Given the description of an element on the screen output the (x, y) to click on. 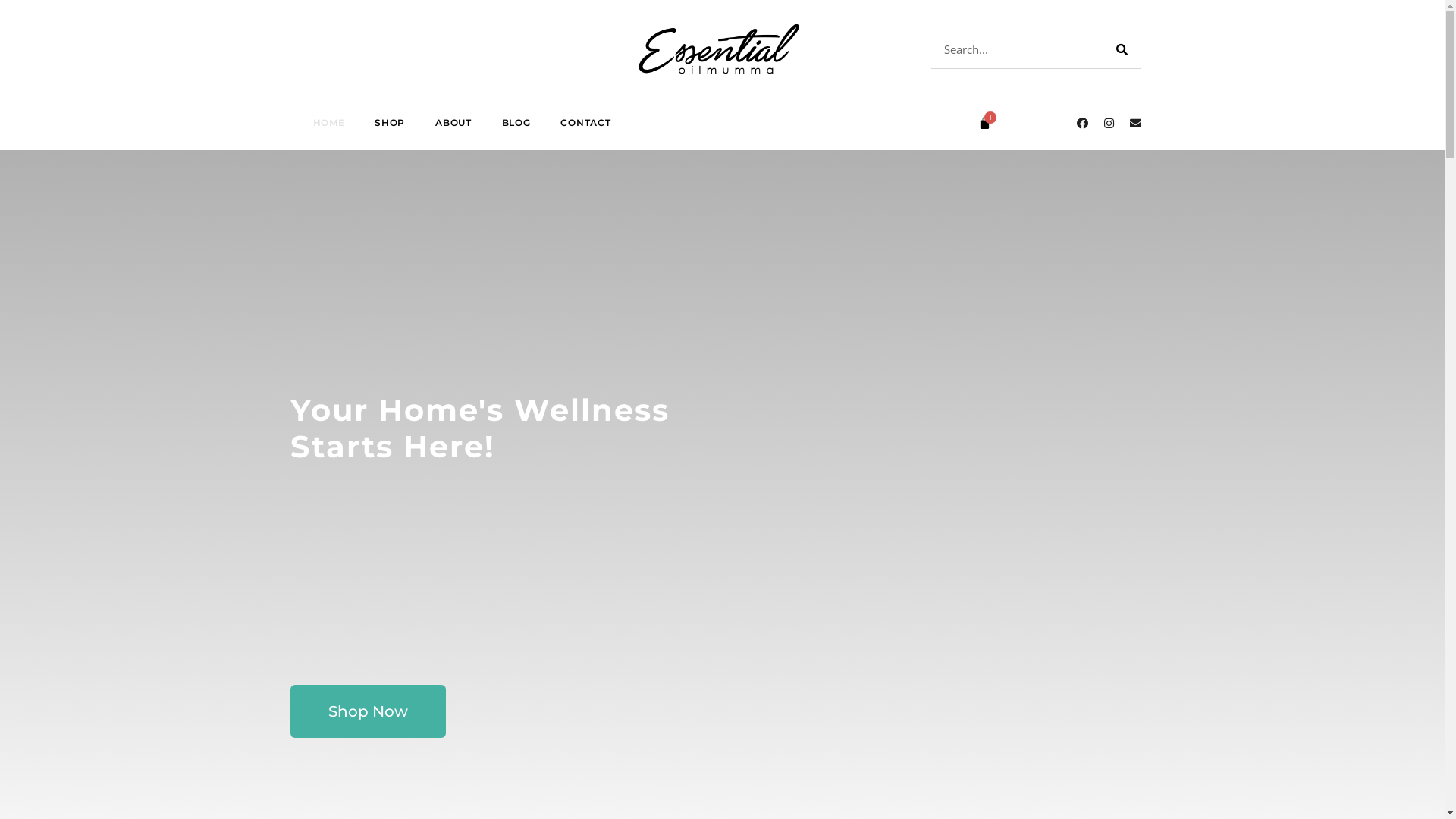
Search Element type: text (1122, 49)
Shop Now Element type: text (367, 710)
CONTACT Element type: text (585, 122)
Instagram Element type: text (1108, 122)
BLOG Element type: text (516, 122)
Facebook Element type: text (1081, 122)
SHOP Element type: text (389, 122)
HOME Element type: text (328, 122)
ABOUT Element type: text (453, 122)
Envelope Element type: text (1134, 122)
1
Cart Element type: text (984, 122)
